Given the description of an element on the screen output the (x, y) to click on. 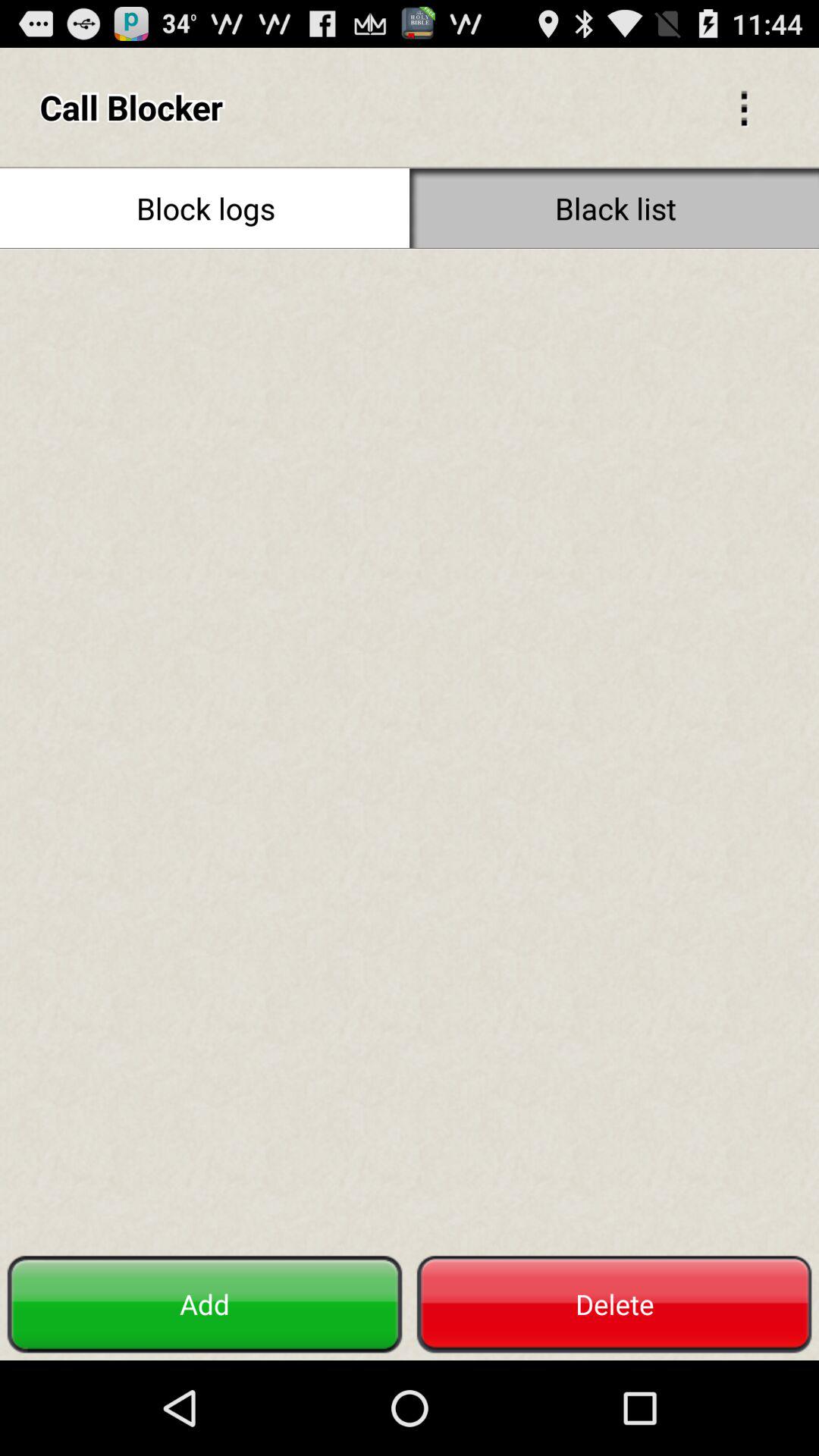
press button next to delete button (204, 1304)
